Given the description of an element on the screen output the (x, y) to click on. 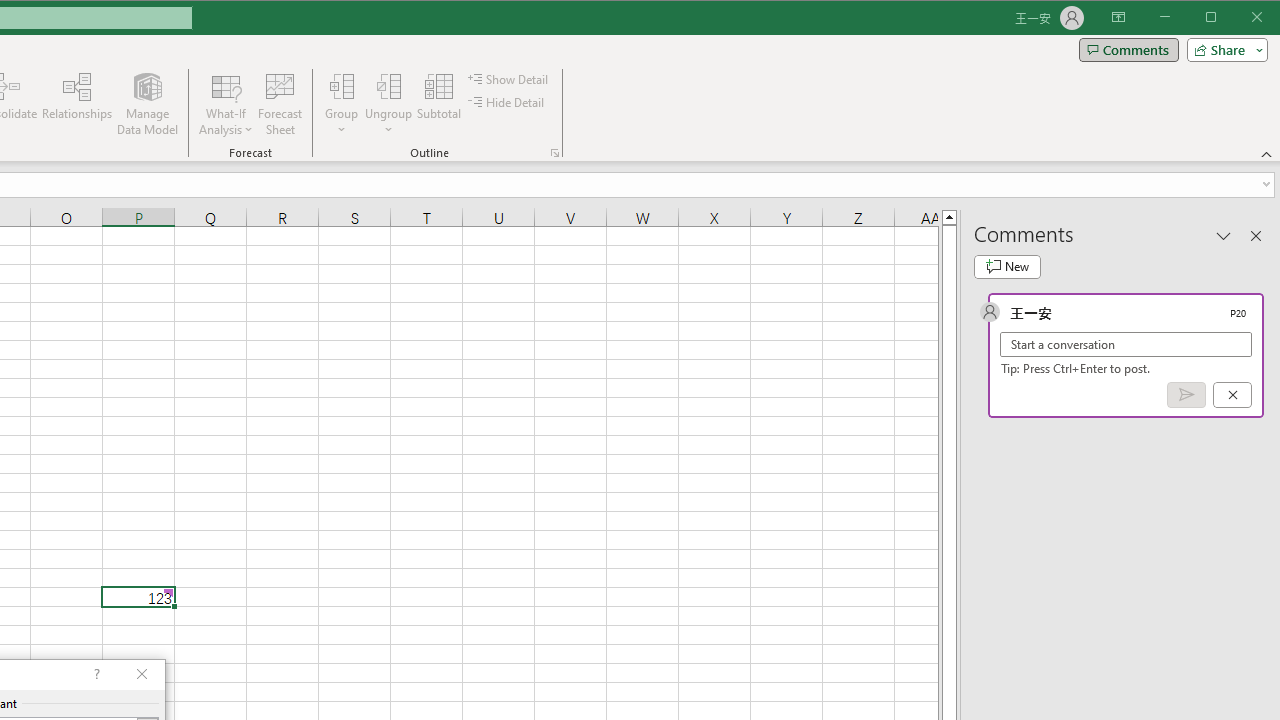
Show Detail (509, 78)
Subtotal (438, 104)
Cancel (1232, 395)
New comment (1007, 266)
Maximize (1239, 18)
Forecast Sheet (280, 104)
